Given the description of an element on the screen output the (x, y) to click on. 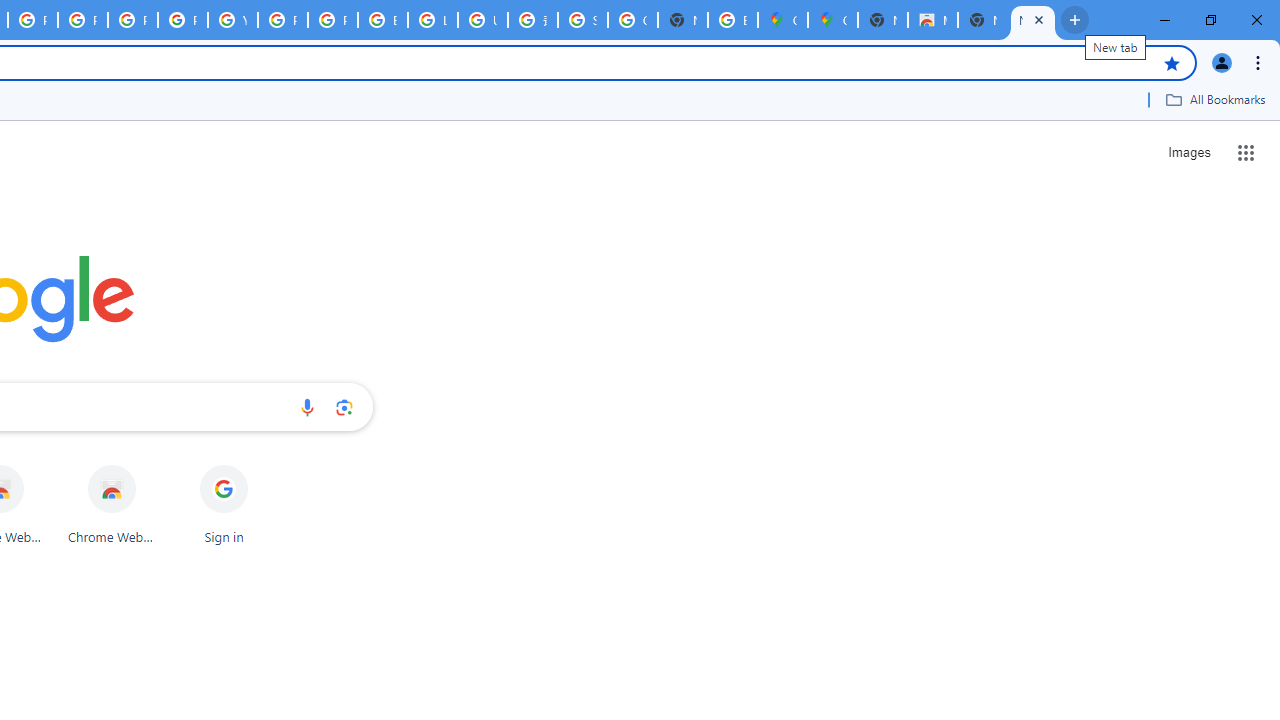
Google Maps (832, 20)
Privacy Help Center - Policies Help (132, 20)
New Tab (1032, 20)
